Given the description of an element on the screen output the (x, y) to click on. 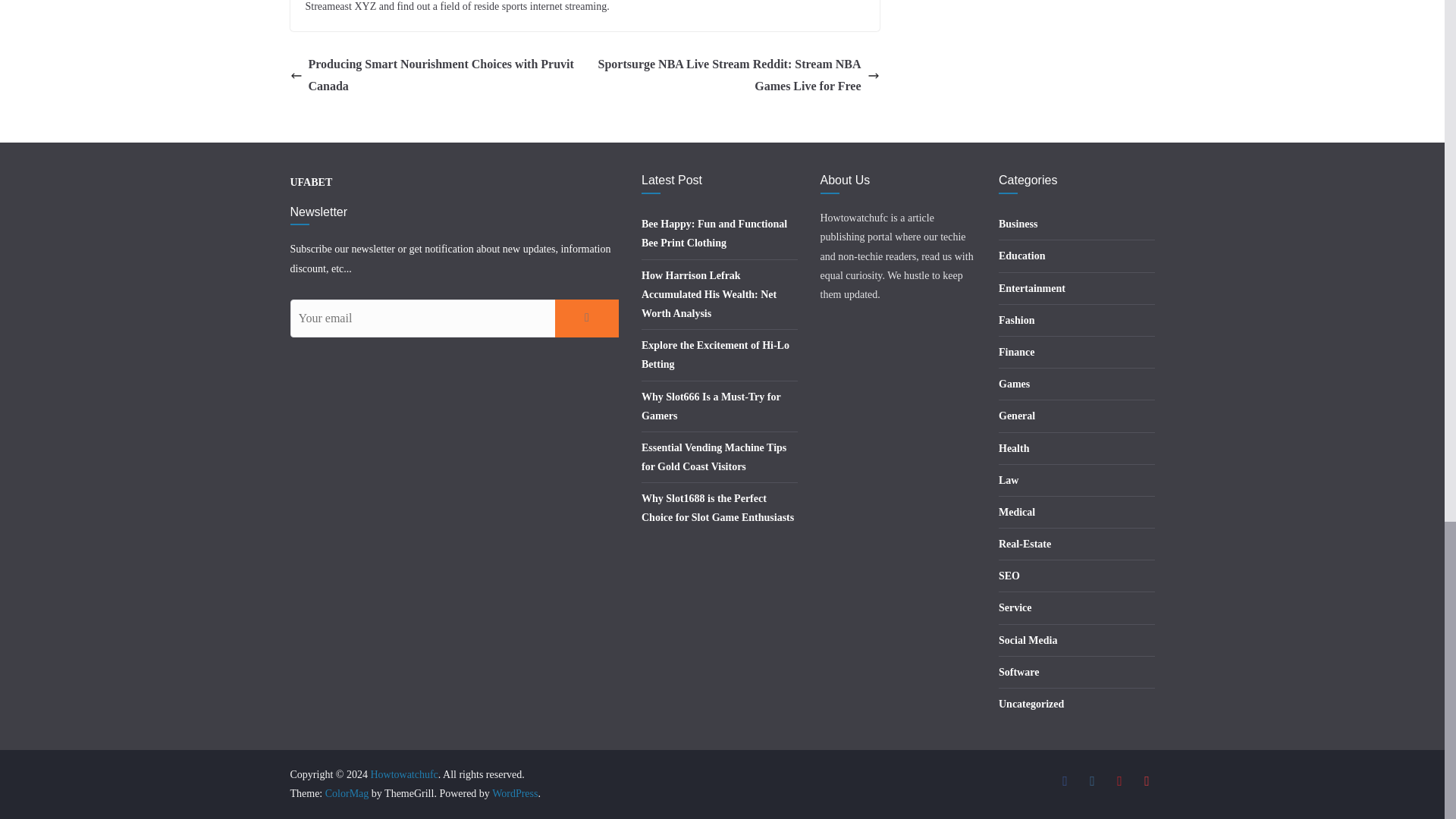
Social Media (1027, 640)
ColorMag (346, 793)
Why Slot666 Is a Must-Try for Gamers (711, 406)
WordPress (514, 793)
Producing Smart Nourishment Choices with Pruvit Canada (432, 75)
Howtowatchufc (403, 774)
SEO (1009, 575)
Real-Estate (1024, 543)
Finance (1015, 351)
